Given the description of an element on the screen output the (x, y) to click on. 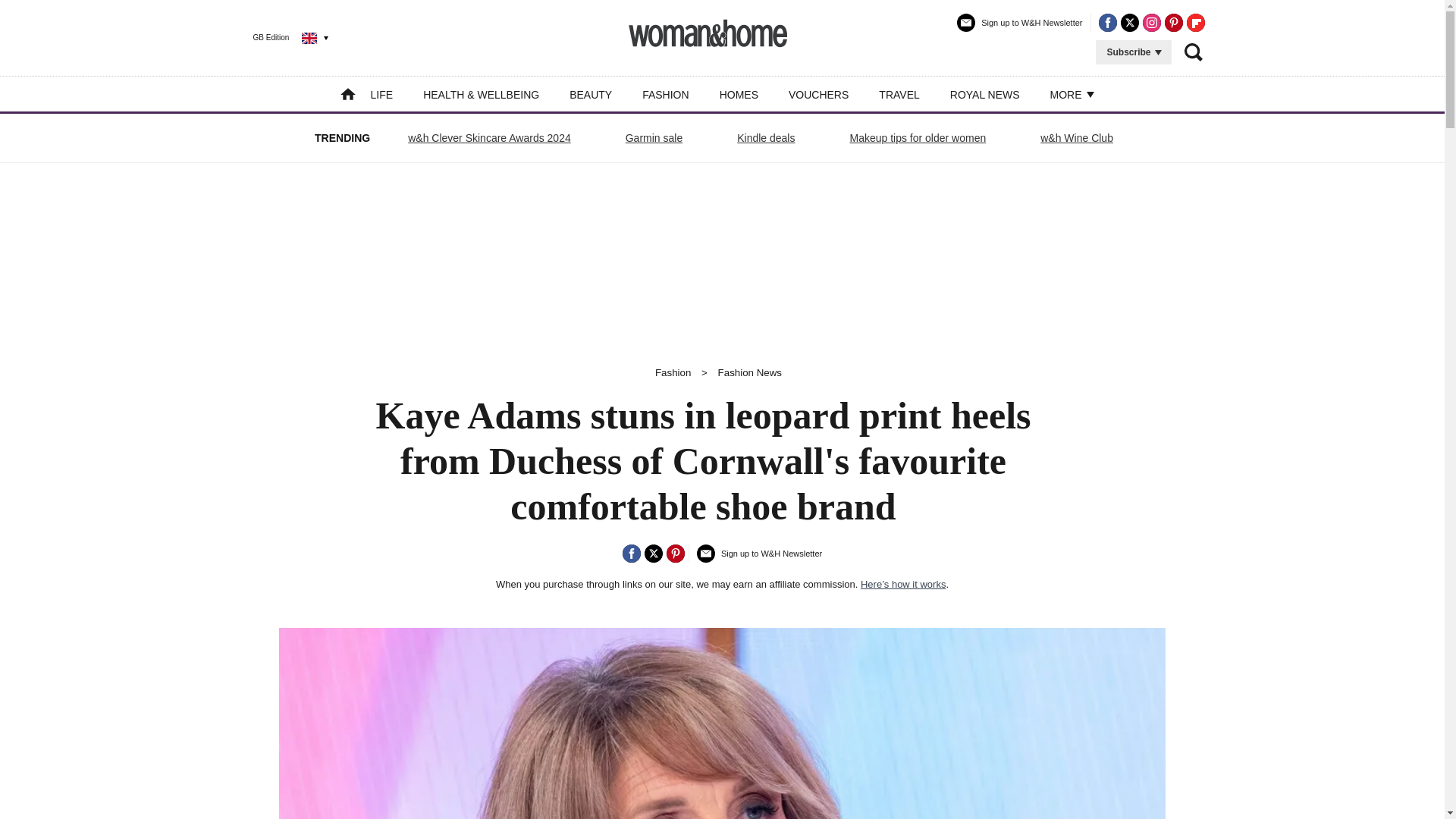
Makeup tips for older women (917, 137)
Garmin sale (653, 137)
Fashion News (749, 372)
VOUCHERS (818, 94)
ROYAL NEWS (985, 94)
Fashion (672, 372)
Kindle deals (765, 137)
HOMES (738, 94)
BEAUTY (590, 94)
FASHION (665, 94)
